Given the description of an element on the screen output the (x, y) to click on. 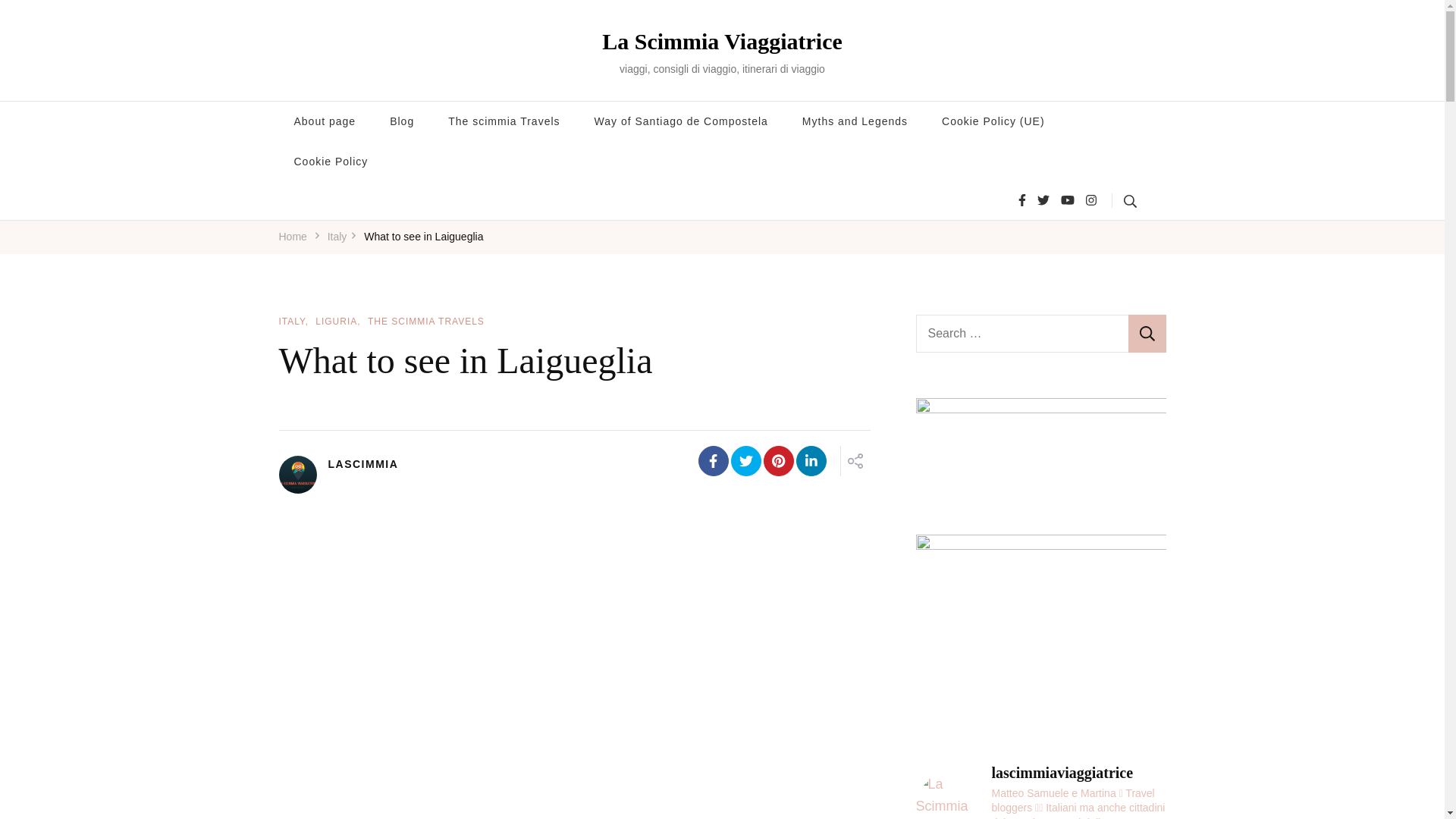
La Scimmia Viaggiatrice (722, 41)
About page (325, 121)
The scimmia Travels (503, 121)
Blog (401, 121)
Search (1147, 333)
Myths and Legends (855, 121)
Way of Santiago de Compostela (681, 121)
Cookie Policy (331, 161)
Search (1147, 333)
Home (293, 236)
Search (1139, 200)
